Given the description of an element on the screen output the (x, y) to click on. 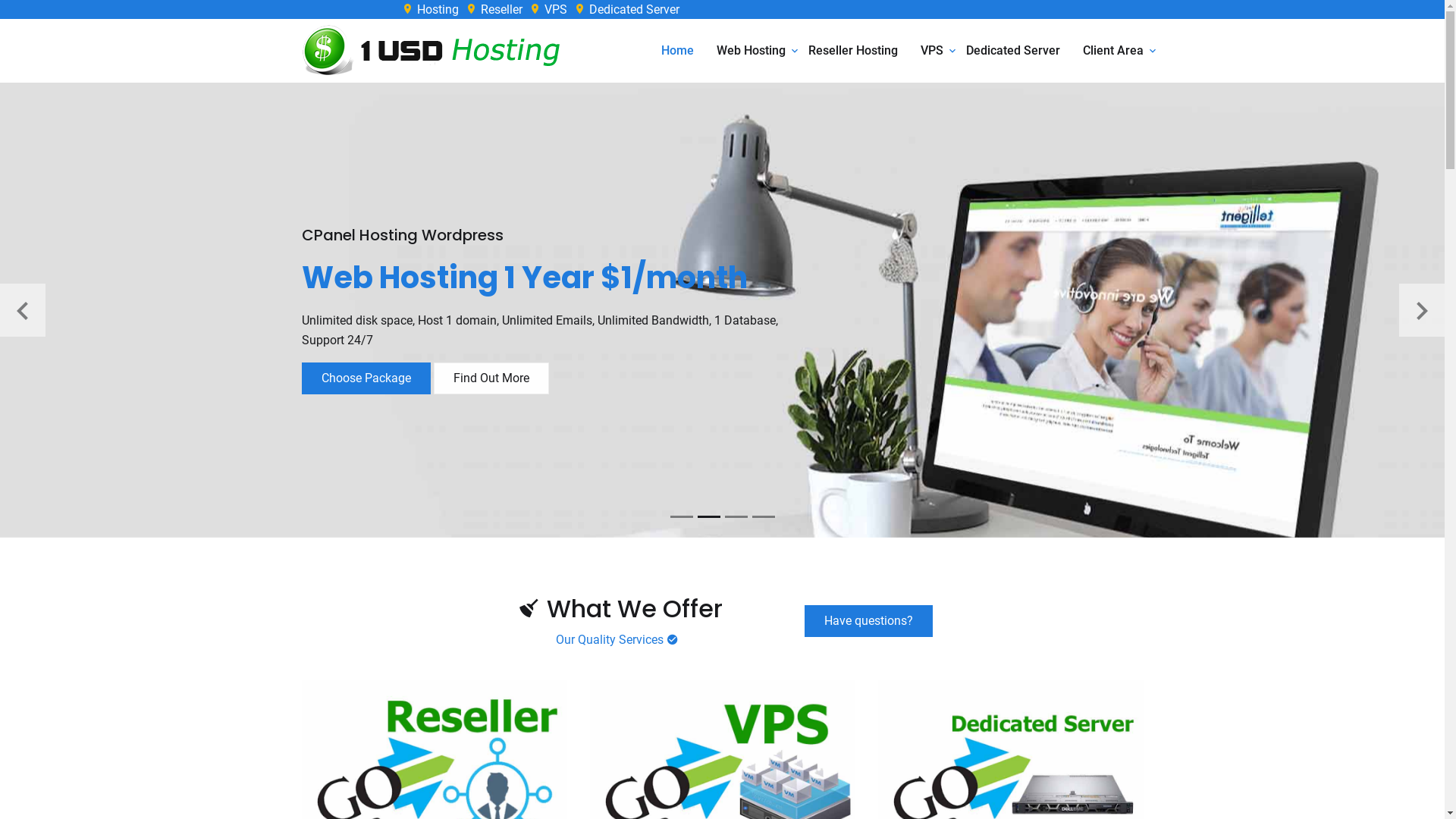
Previous Element type: text (22, 309)
Dedicated Server Element type: text (1013, 50)
Dedicated Server Element type: text (625, 9)
Have questions? Element type: text (868, 621)
1 usd hosting Element type: hover (442, 50)
Next Element type: text (1421, 309)
Hosting Element type: text (429, 9)
VPS Element type: text (548, 9)
Reseller Element type: text (493, 9)
Choose Package Element type: text (365, 378)
Client Area Element type: text (1112, 50)
Web Hosting Element type: text (749, 50)
VPS Element type: text (931, 50)
Find Out More Element type: text (491, 378)
Reseller Hosting Element type: text (852, 50)
Home Element type: text (677, 50)
